Given the description of an element on the screen output the (x, y) to click on. 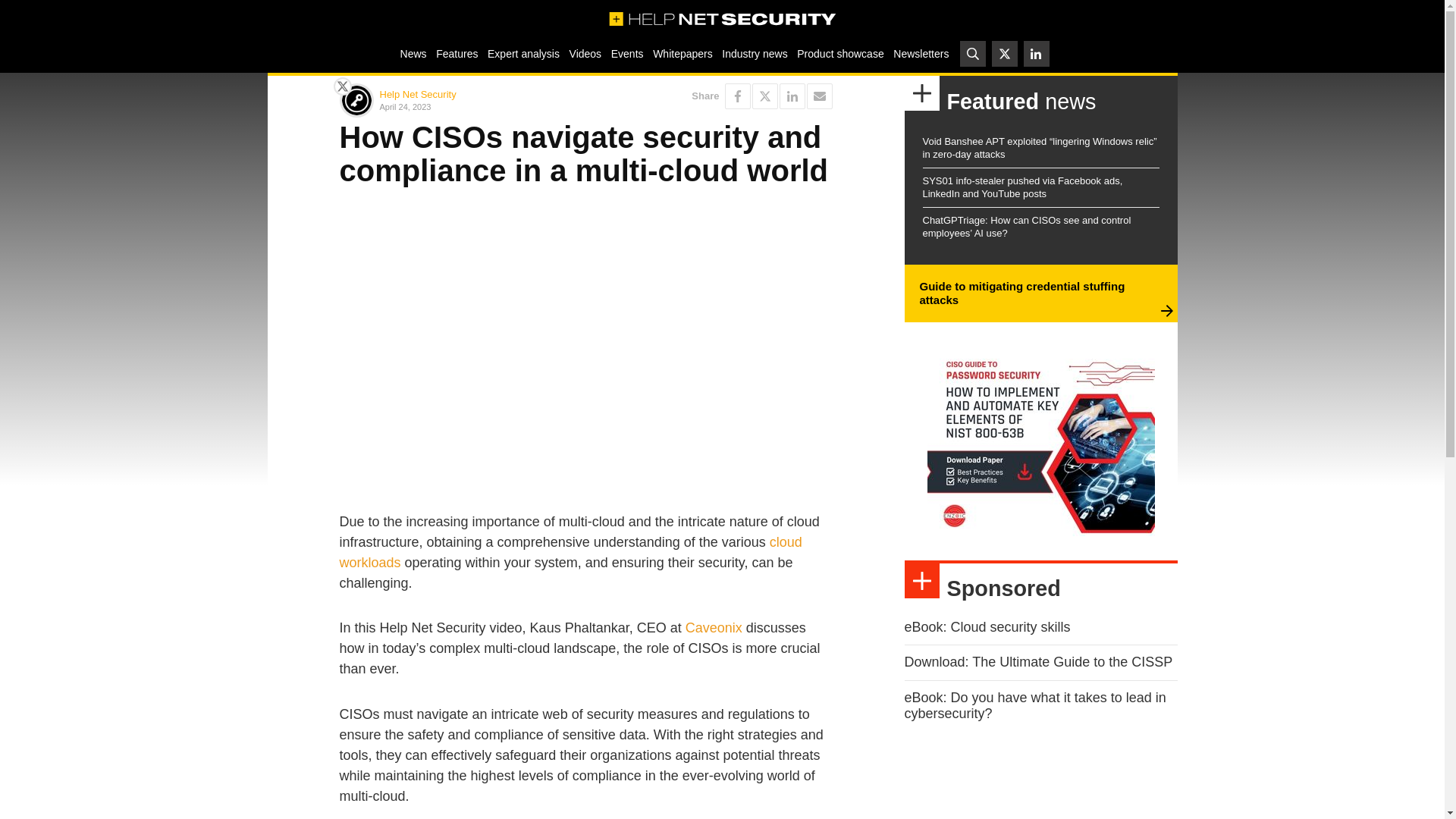
Download: The Ultimate Guide to the CISSP (1038, 661)
Industry news (754, 53)
Videos (584, 53)
Newsletters (920, 53)
Help Net Security (416, 93)
Expert analysis (523, 53)
April 24, 2023 (478, 106)
eBook: Do you have what it takes to lead in cybersecurity? (1035, 705)
News (412, 53)
eBook: Cloud security skills (987, 626)
Events (626, 53)
